Given the description of an element on the screen output the (x, y) to click on. 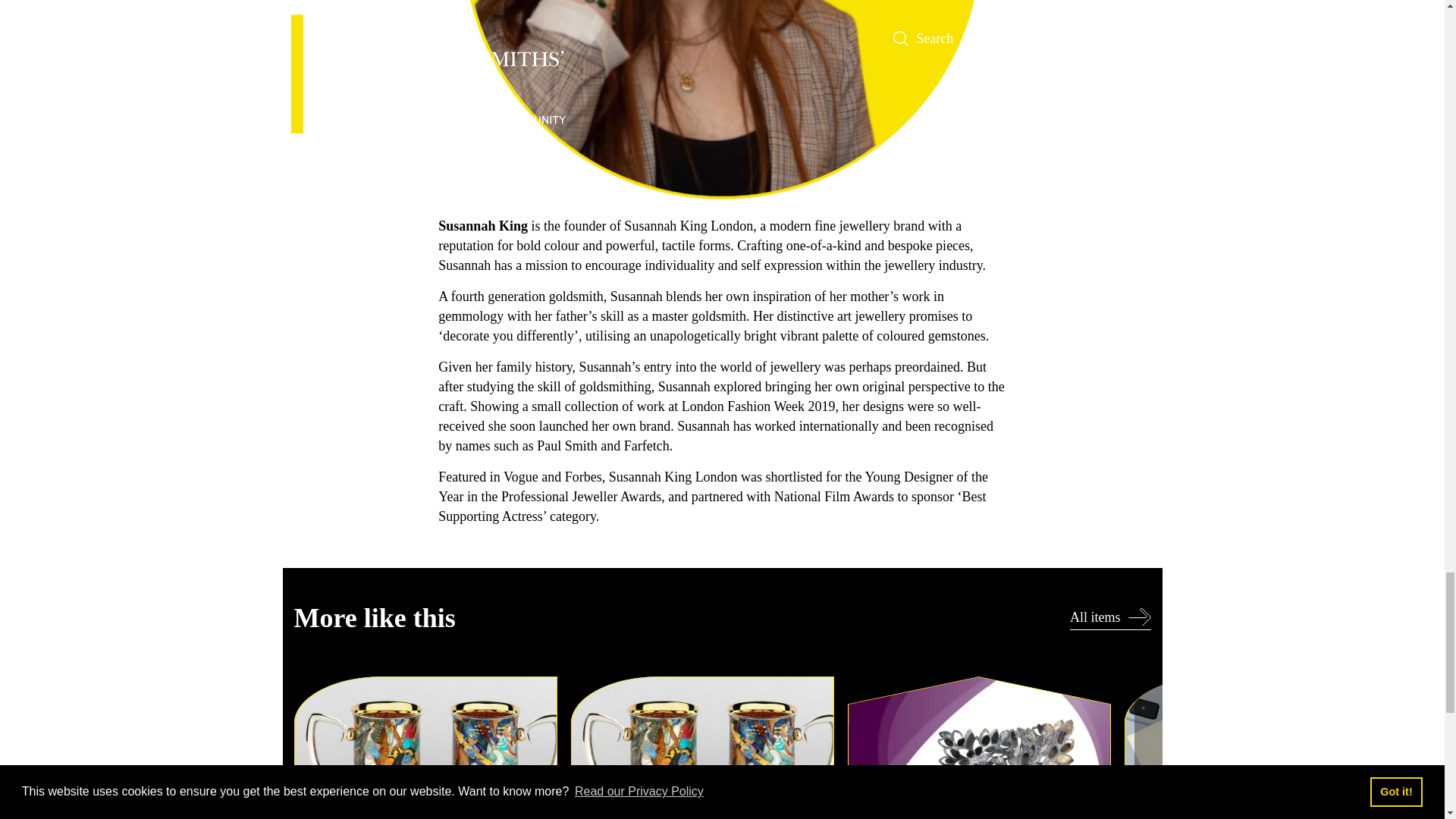
All items (1110, 618)
